Given the description of an element on the screen output the (x, y) to click on. 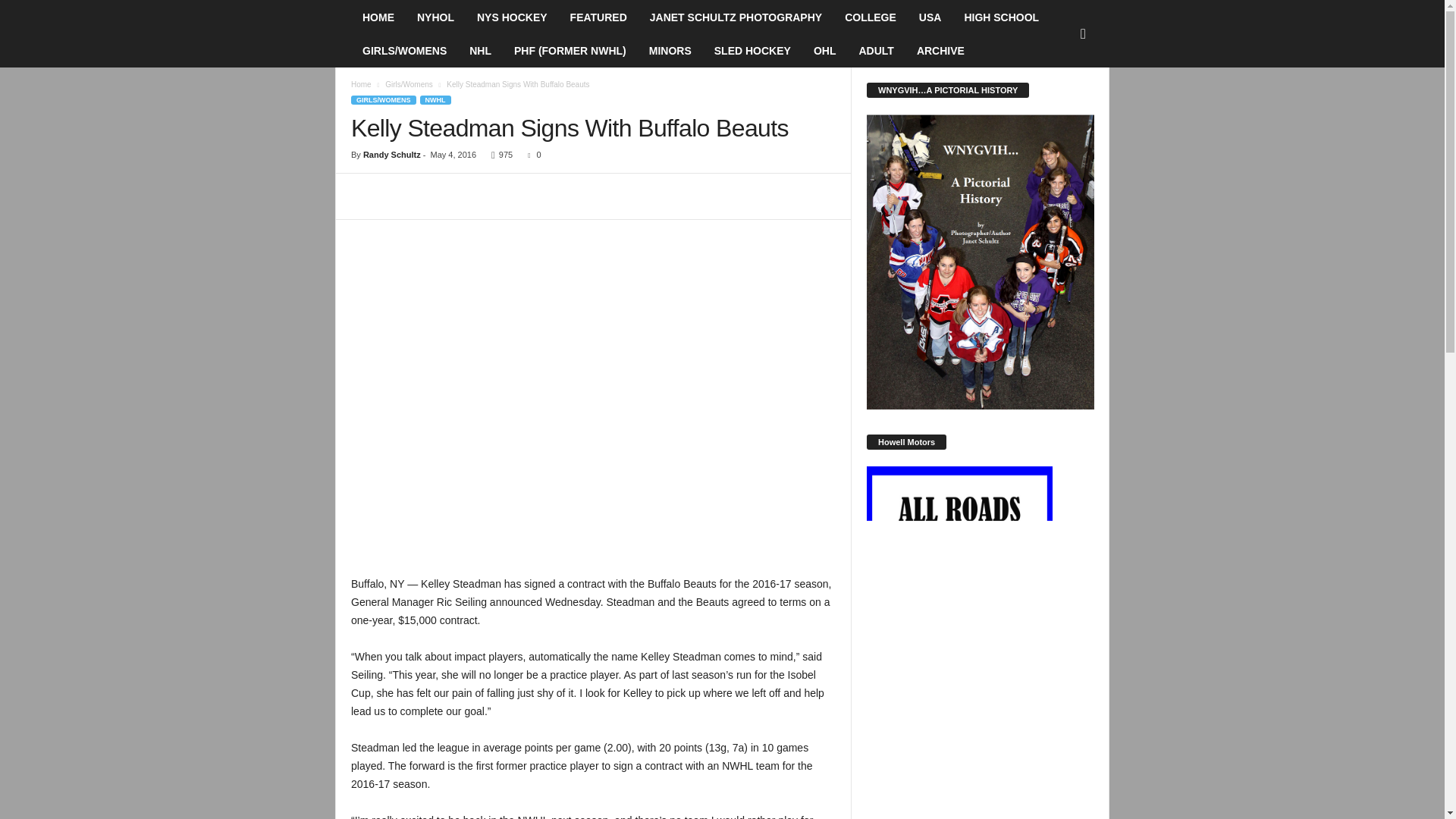
FEATURED (599, 17)
JANET SCHULTZ PHOTOGRAPHY (735, 17)
USA (930, 17)
NYS HOCKEY (512, 17)
COLLEGE (869, 17)
HIGH SCHOOL (1000, 17)
NYHOL (435, 17)
HOME (378, 17)
